Given the description of an element on the screen output the (x, y) to click on. 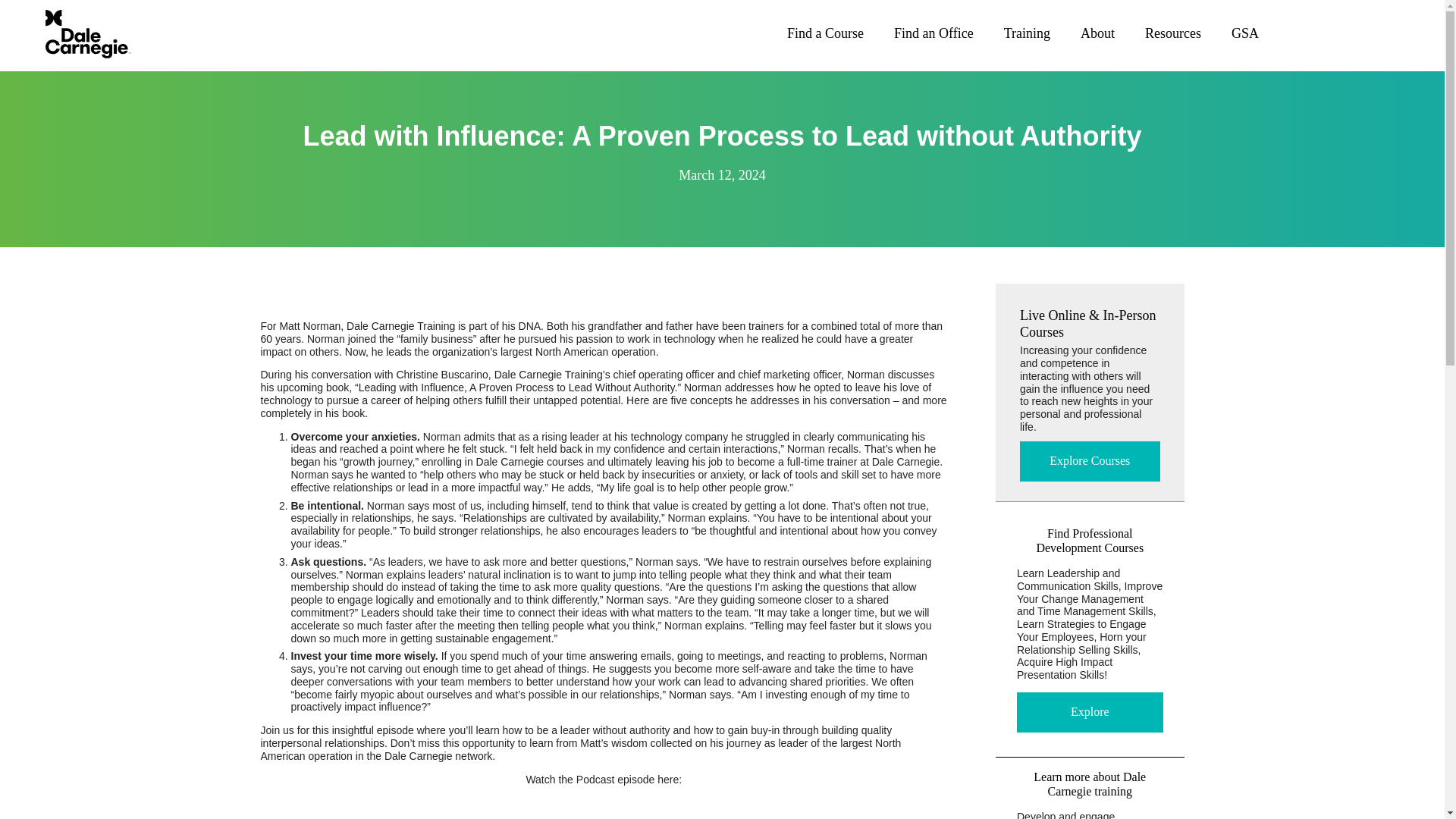
Resources (1172, 33)
Find an Office (933, 33)
Explore Courses (1090, 461)
About (1097, 33)
Explore (1089, 712)
Find a Course (825, 33)
Training (1026, 33)
